Given the description of an element on the screen output the (x, y) to click on. 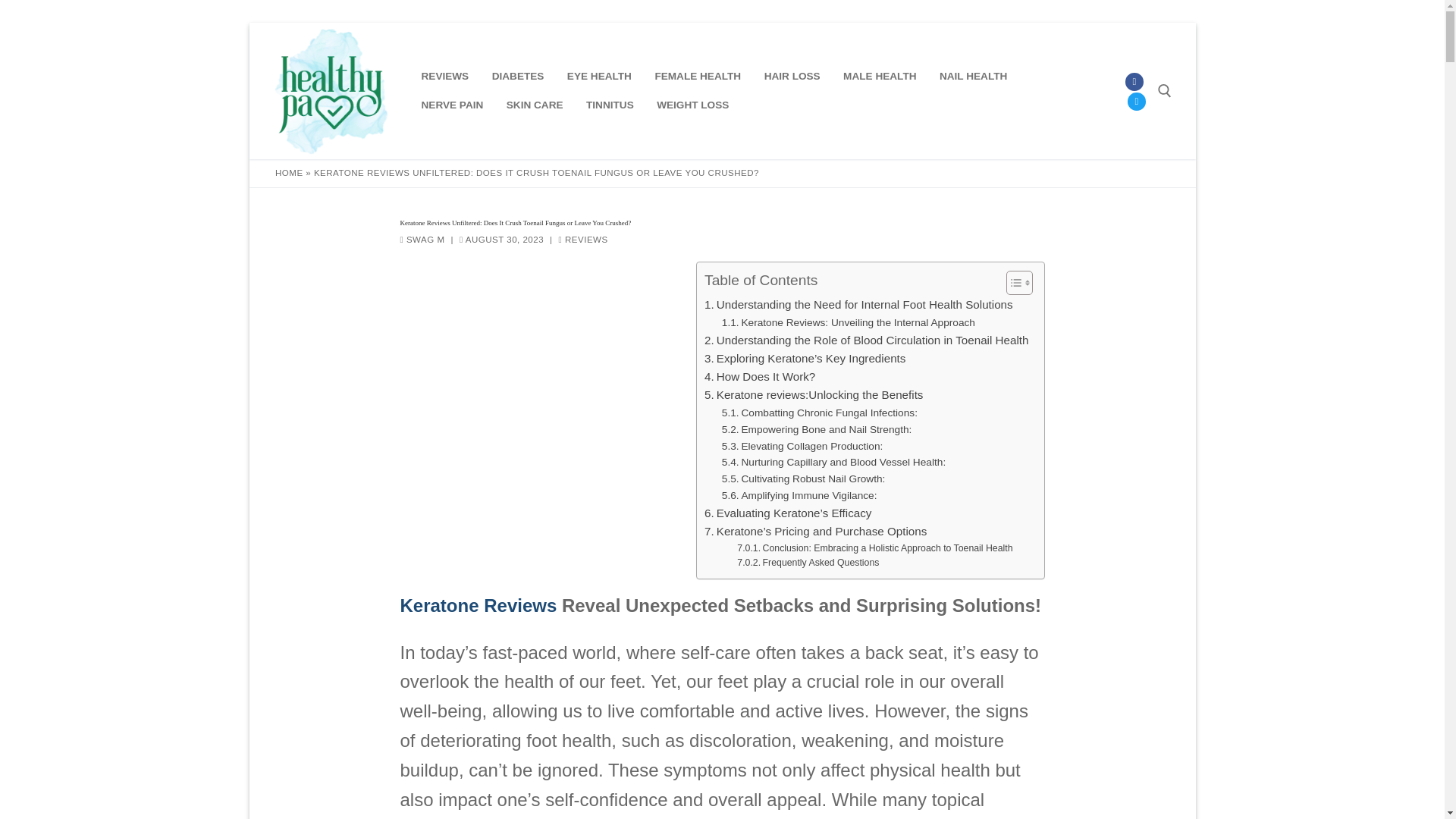
REVIEWS (583, 239)
SWAG M (422, 239)
Keratone Reviews: Unveiling the Internal Approach (848, 322)
FEMALE HEALTH (698, 76)
REVIEWS (444, 76)
Combatting Chronic Fungal Infections: (819, 412)
Elevating Collagen Production: (802, 446)
HOME (288, 172)
Twitter (1136, 101)
Keratone Reviews: Unveiling the Internal Approach (848, 322)
NERVE PAIN (451, 104)
Nurturing Capillary and Blood Vessel Health: (833, 462)
